Given the description of an element on the screen output the (x, y) to click on. 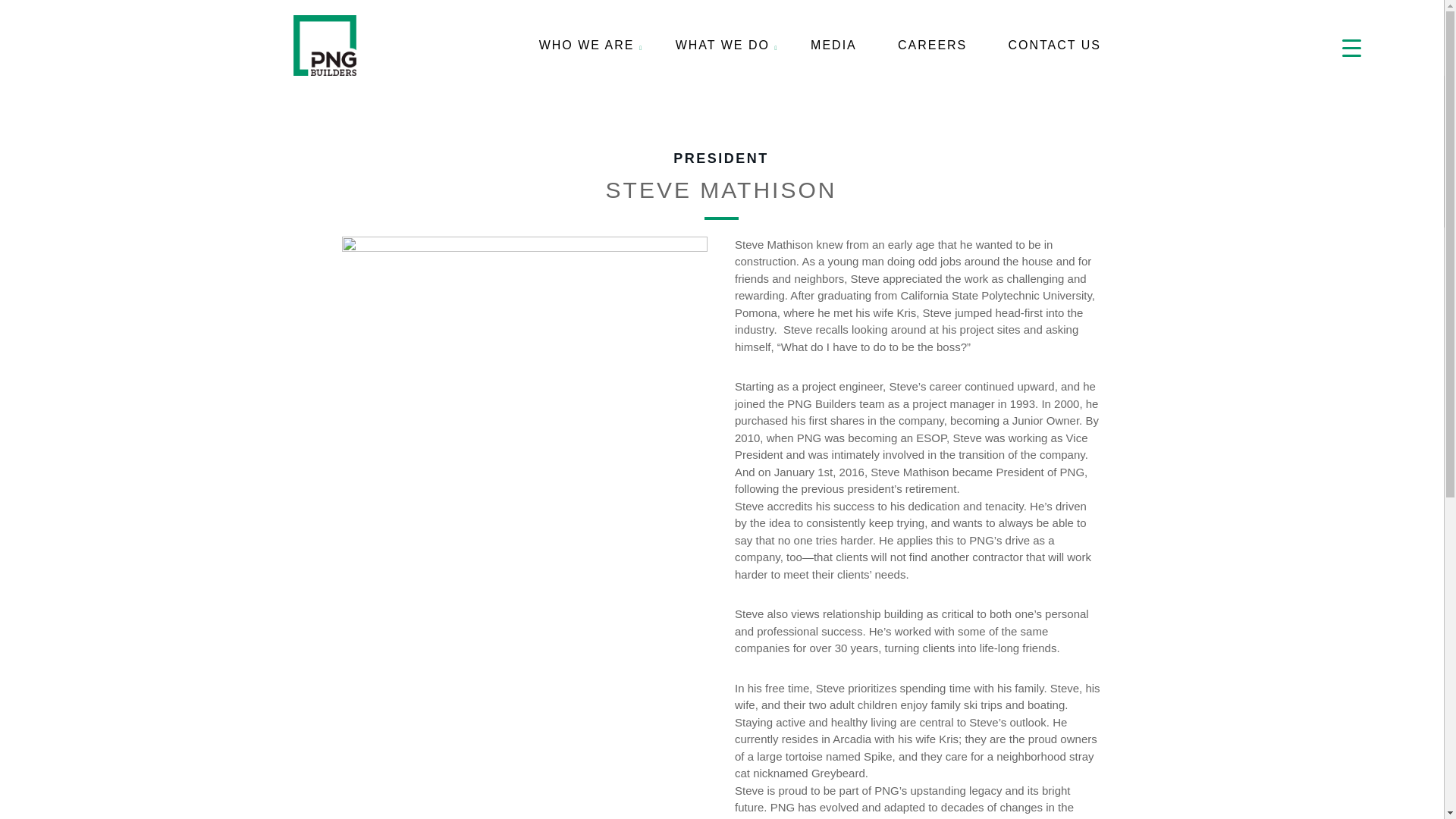
MEDIA Element type: text (833, 45)
CONTACT US Element type: text (1054, 45)
WHAT WE DO Element type: text (722, 45)
WHO WE ARE Element type: text (586, 45)
CAREERS Element type: text (931, 45)
